Given the description of an element on the screen output the (x, y) to click on. 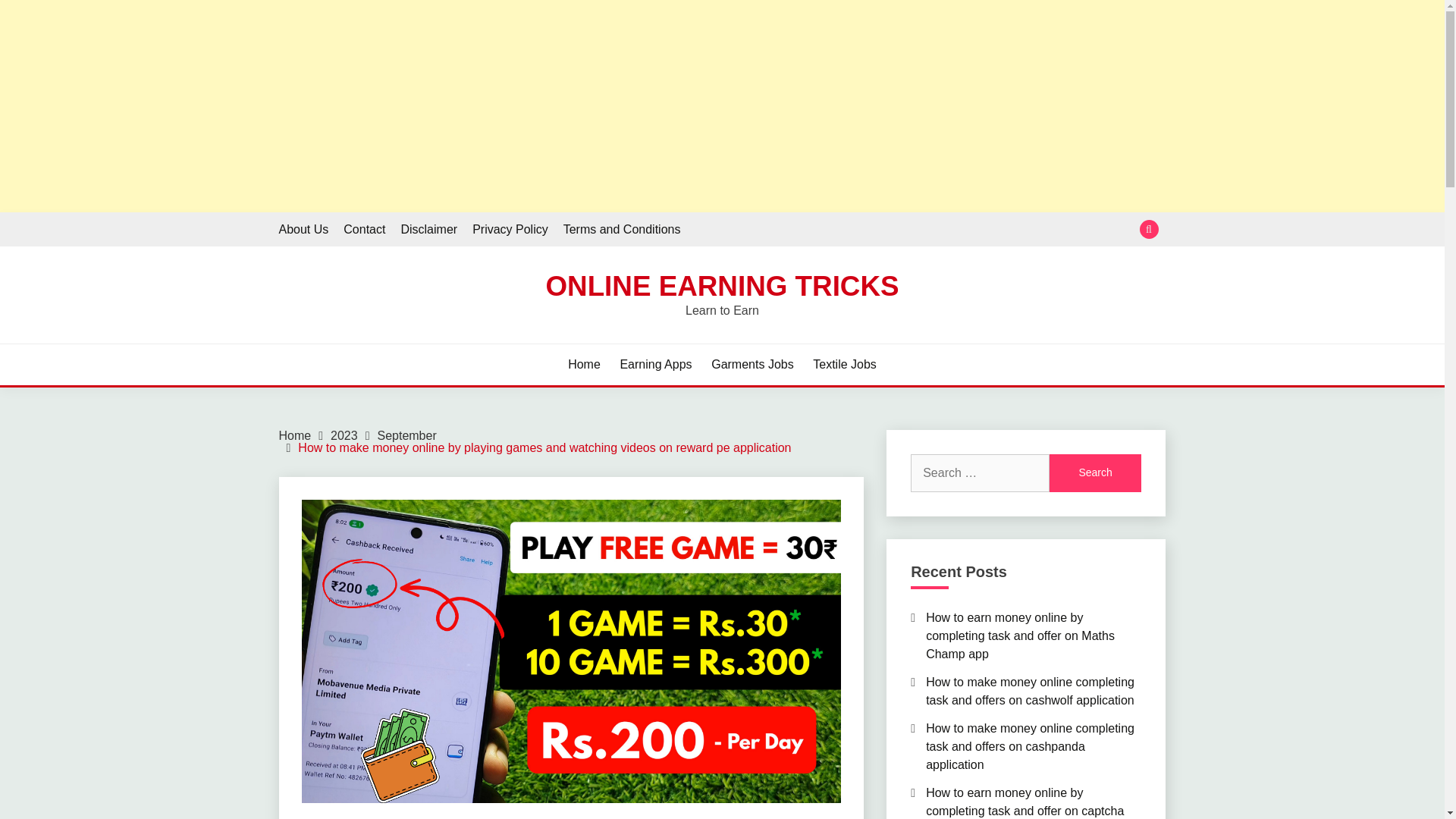
Disclaimer (428, 228)
Search (1095, 473)
About Us (304, 228)
Home (583, 364)
Search (1095, 473)
Search (1095, 473)
Terms and Conditions (622, 228)
Garments Jobs (752, 364)
Contact (364, 228)
Textile Jobs (844, 364)
Privacy Policy (509, 228)
September (406, 435)
ONLINE EARNING TRICKS (721, 286)
